Given the description of an element on the screen output the (x, y) to click on. 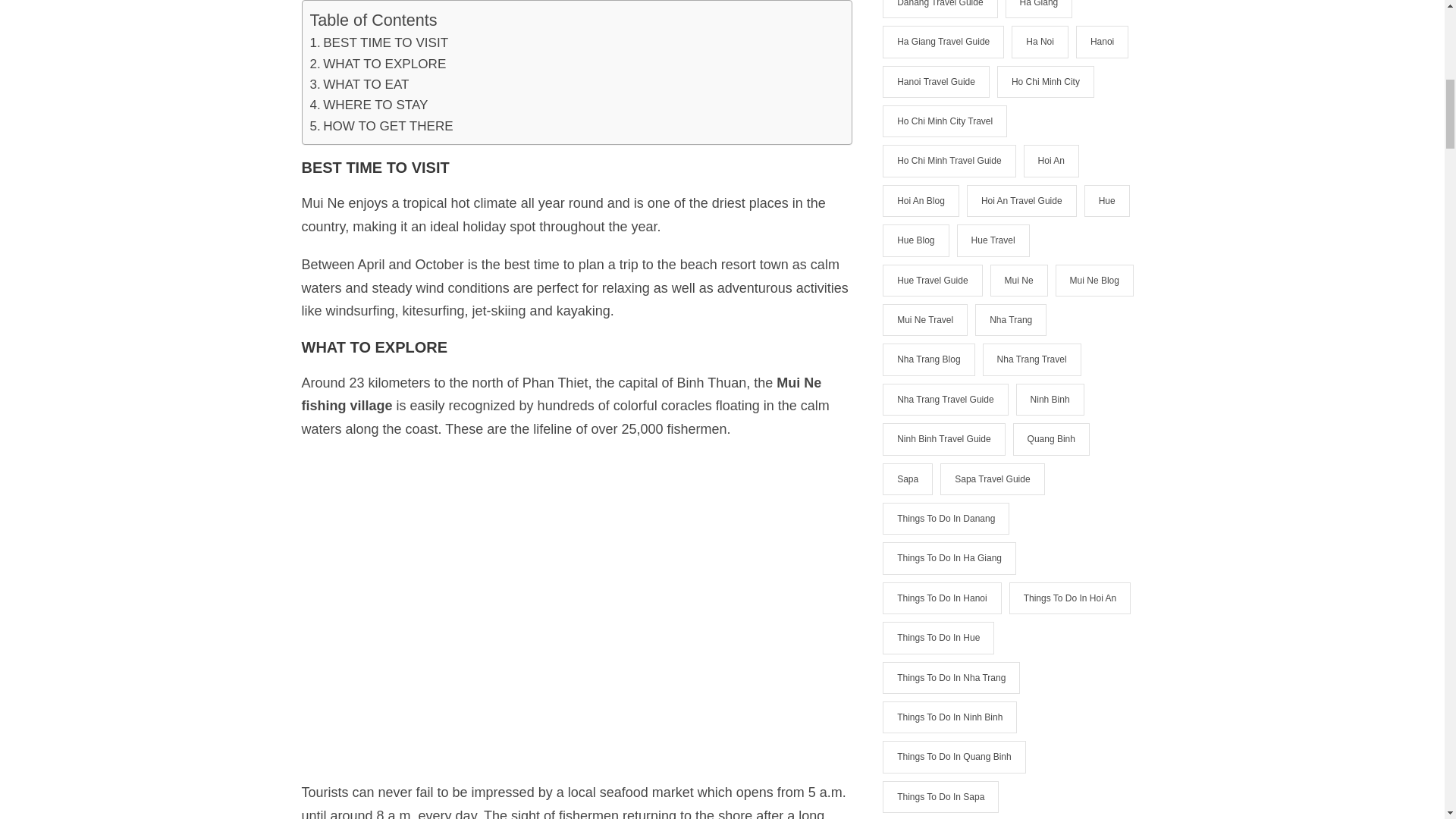
WHAT TO EXPLORE (376, 63)
HOW TO GET THERE (380, 125)
BEST TIME TO VISIT (378, 42)
WHAT TO EAT (358, 83)
WHERE TO STAY (368, 104)
